Given the description of an element on the screen output the (x, y) to click on. 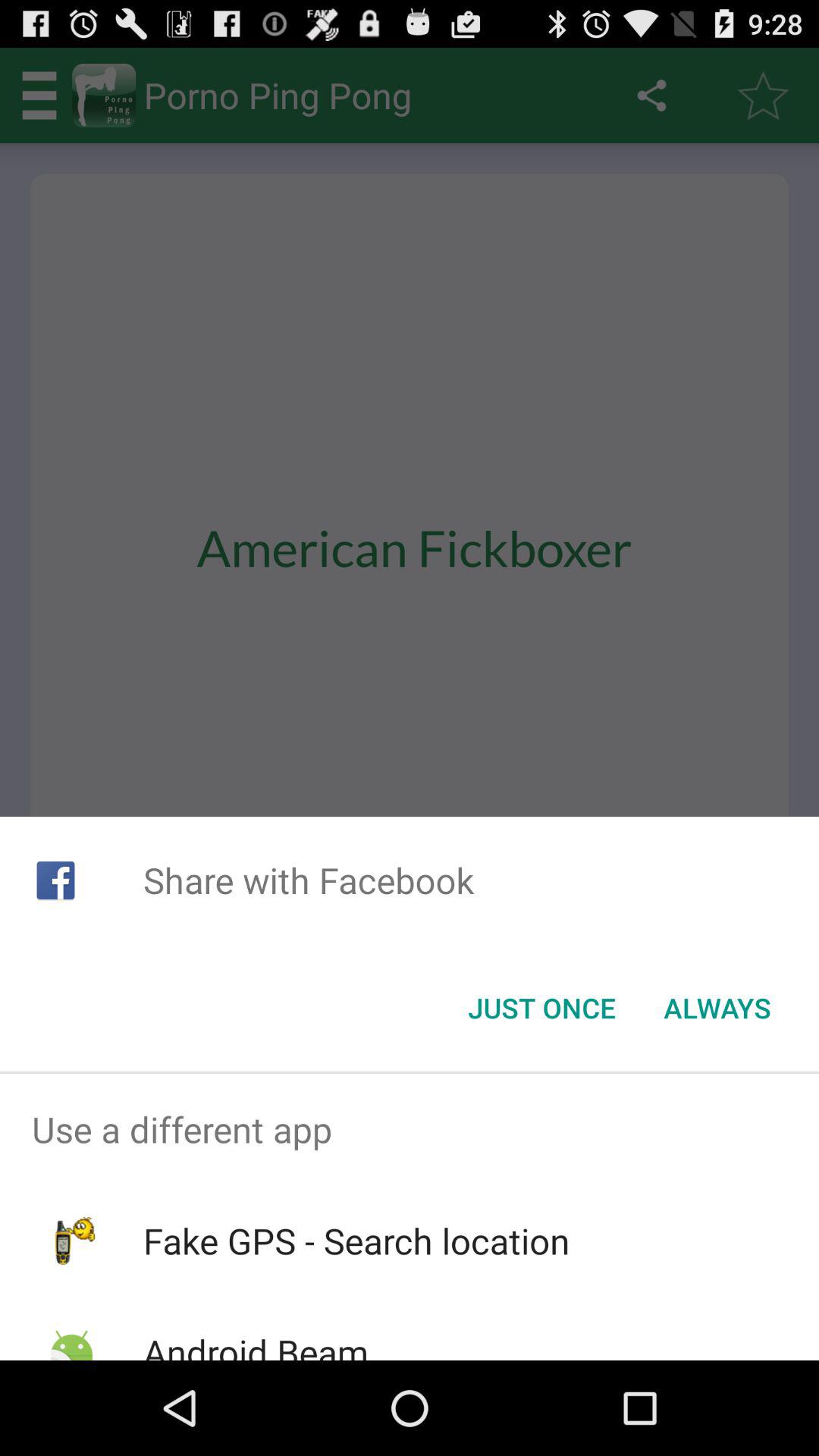
open the item above the android beam app (356, 1240)
